Given the description of an element on the screen output the (x, y) to click on. 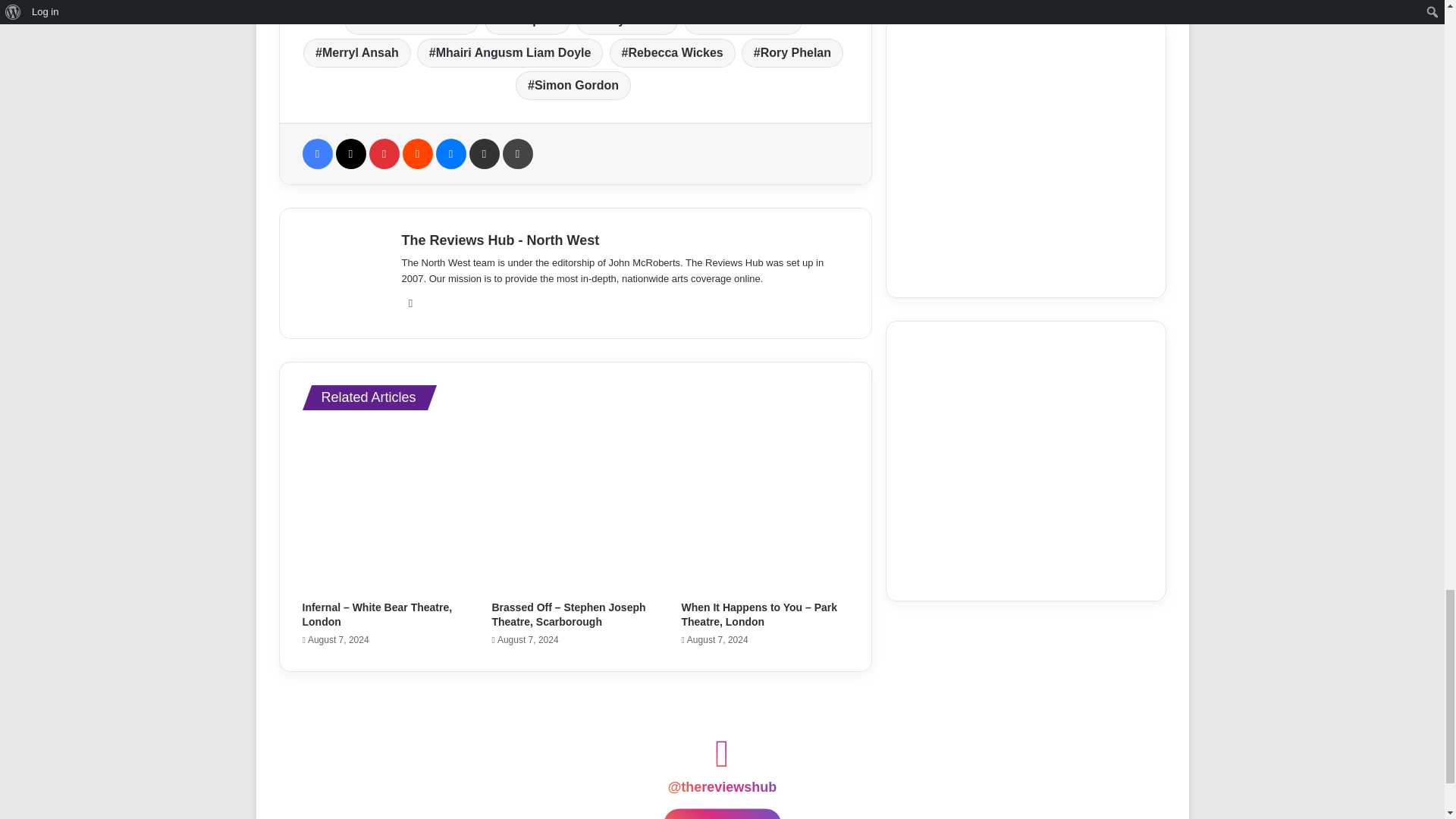
Share via Email (483, 153)
Facebook (316, 153)
Messenger (450, 153)
Reddit (416, 153)
Pinterest (383, 153)
X (349, 153)
